Given the description of an element on the screen output the (x, y) to click on. 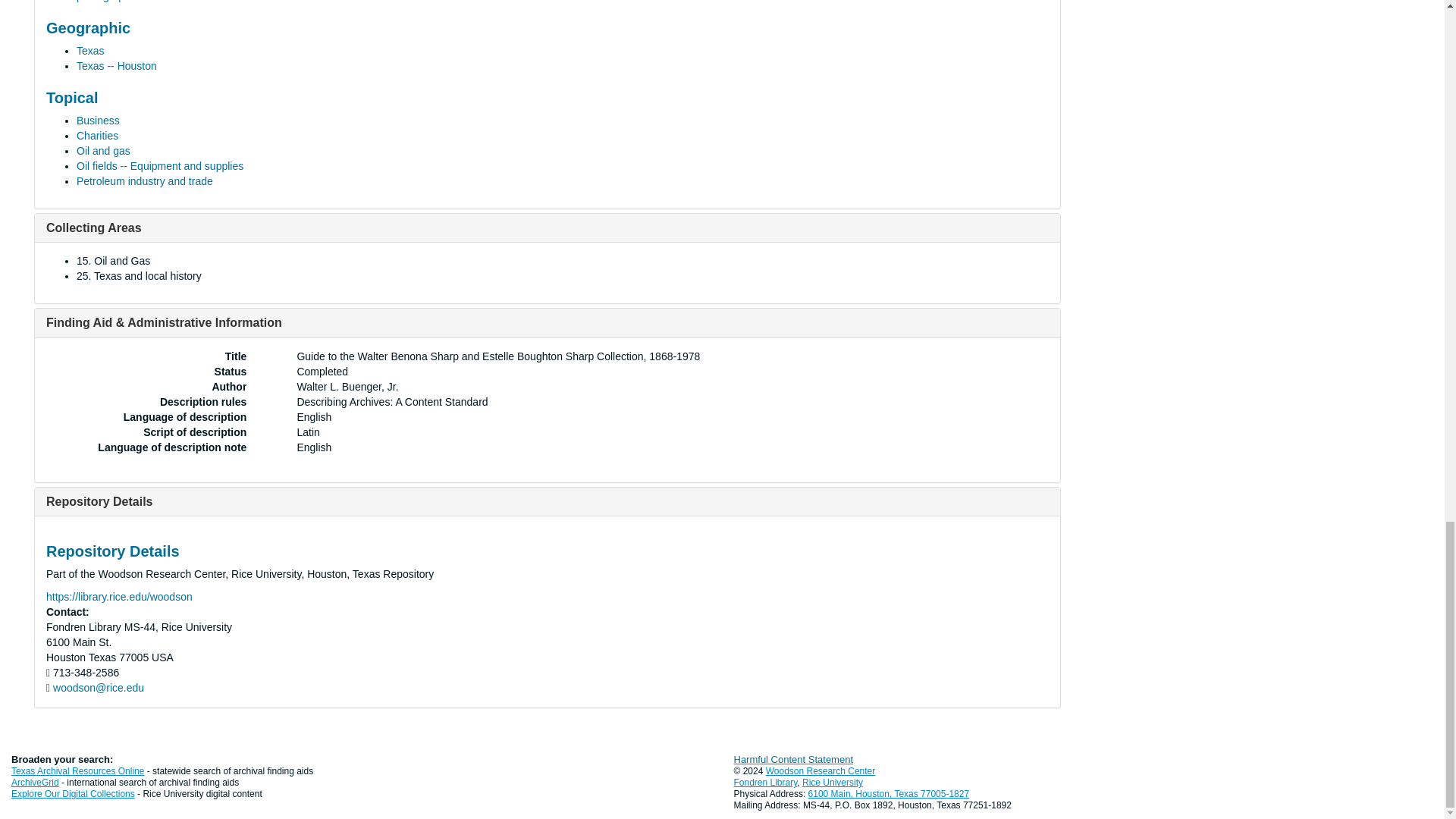
Texas (90, 50)
photographs (106, 1)
Oil and gas (104, 150)
Petroleum industry and trade (144, 181)
Charities (97, 135)
Texas -- Houston (117, 65)
15. Oil and Gas (113, 260)
Collecting Areas (93, 227)
Send email (98, 687)
Business (98, 120)
